Given the description of an element on the screen output the (x, y) to click on. 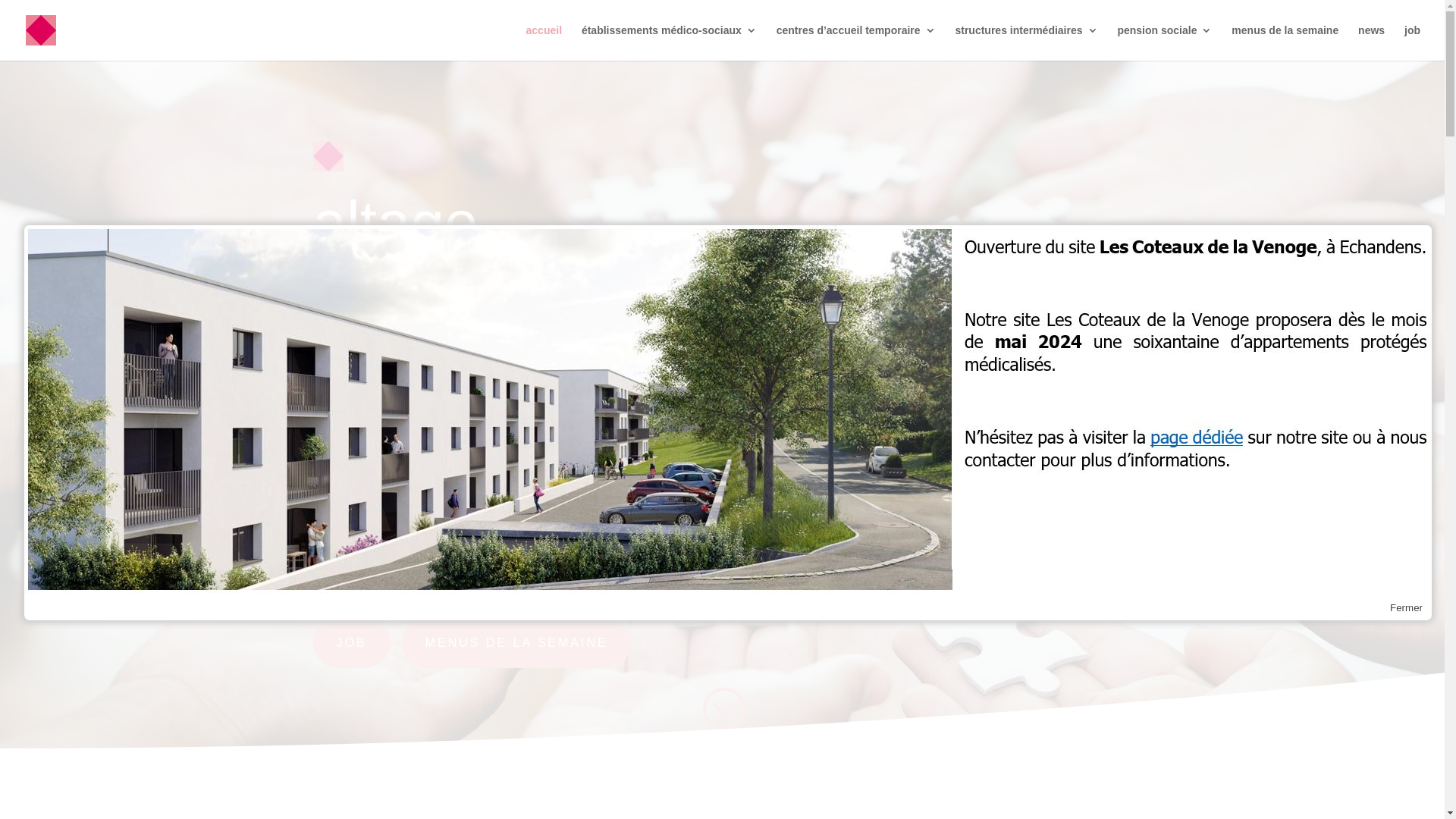
pension sociale Element type: text (1164, 42)
job Element type: text (1412, 42)
Fermer Element type: text (1406, 607)
MENUS DE LA SEMAINE Element type: text (516, 642)
news Element type: text (1371, 42)
JOB Element type: text (350, 642)
menus de la semaine Element type: text (1284, 42)
accueil Element type: text (543, 42)
; Element type: text (721, 708)
